Given the description of an element on the screen output the (x, y) to click on. 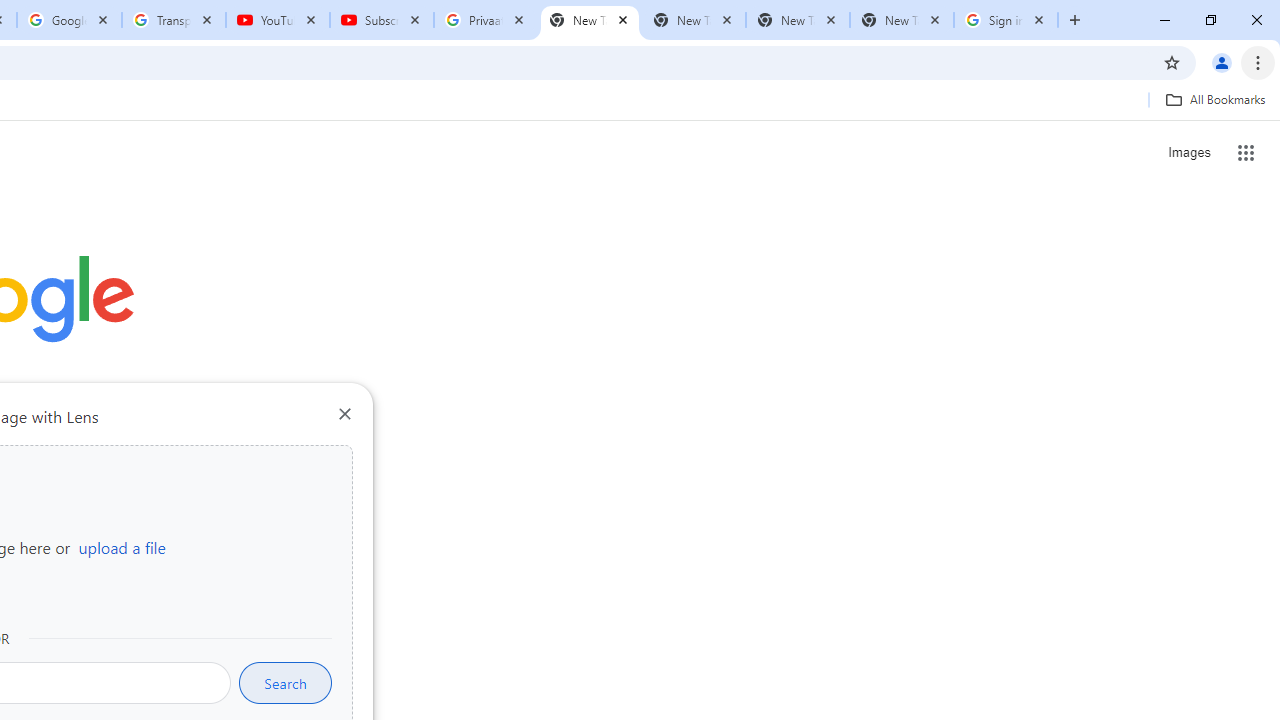
Sign in - Google Accounts (1005, 20)
More actions for Sign in shortcut (152, 466)
upload a file (122, 547)
